Given the description of an element on the screen output the (x, y) to click on. 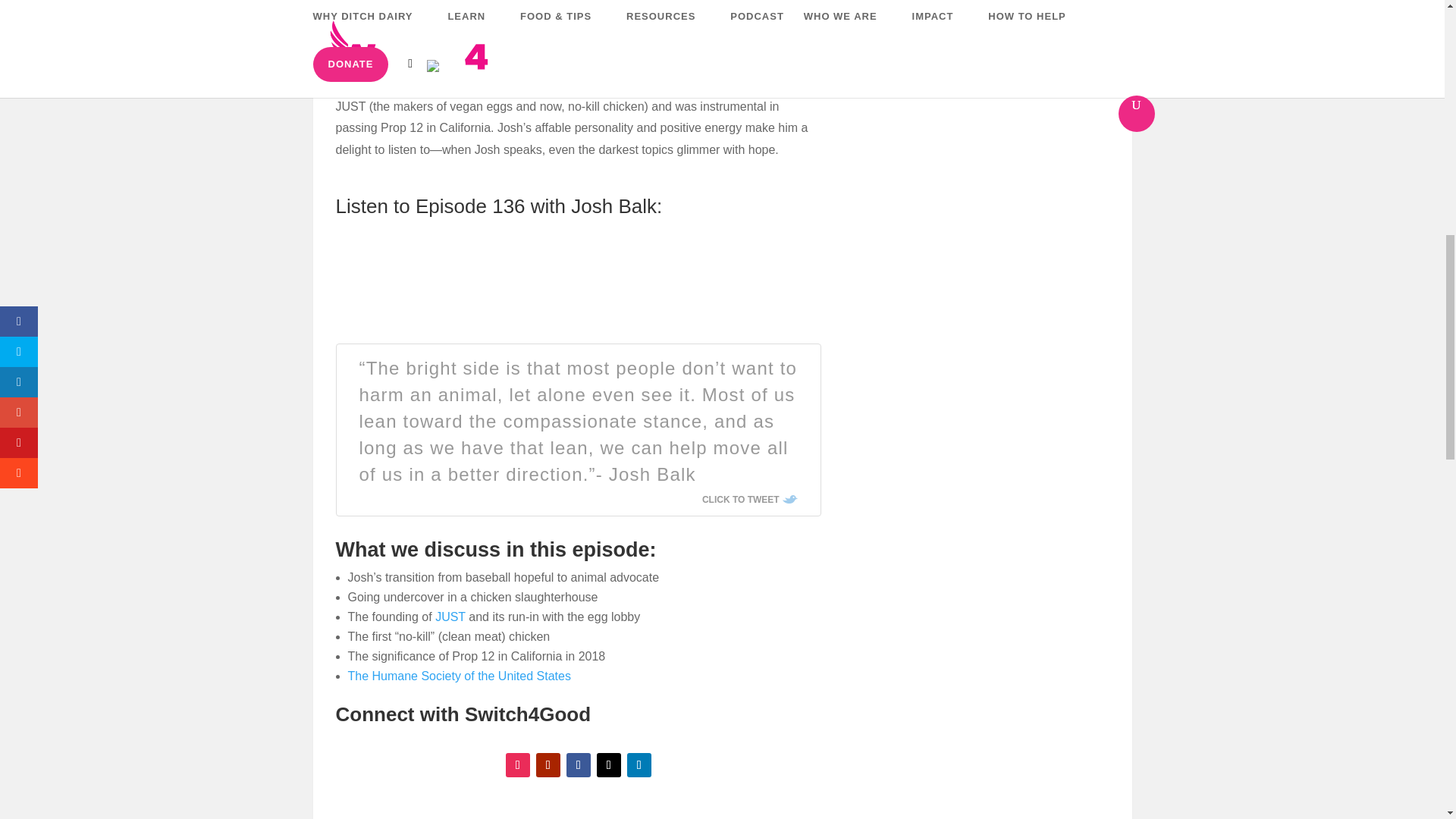
Follow on Youtube (547, 764)
Follow on LinkedIn (638, 764)
Follow on Instagram (517, 764)
Follow on Twitter (608, 764)
Follow on Facebook (578, 764)
